Given the description of an element on the screen output the (x, y) to click on. 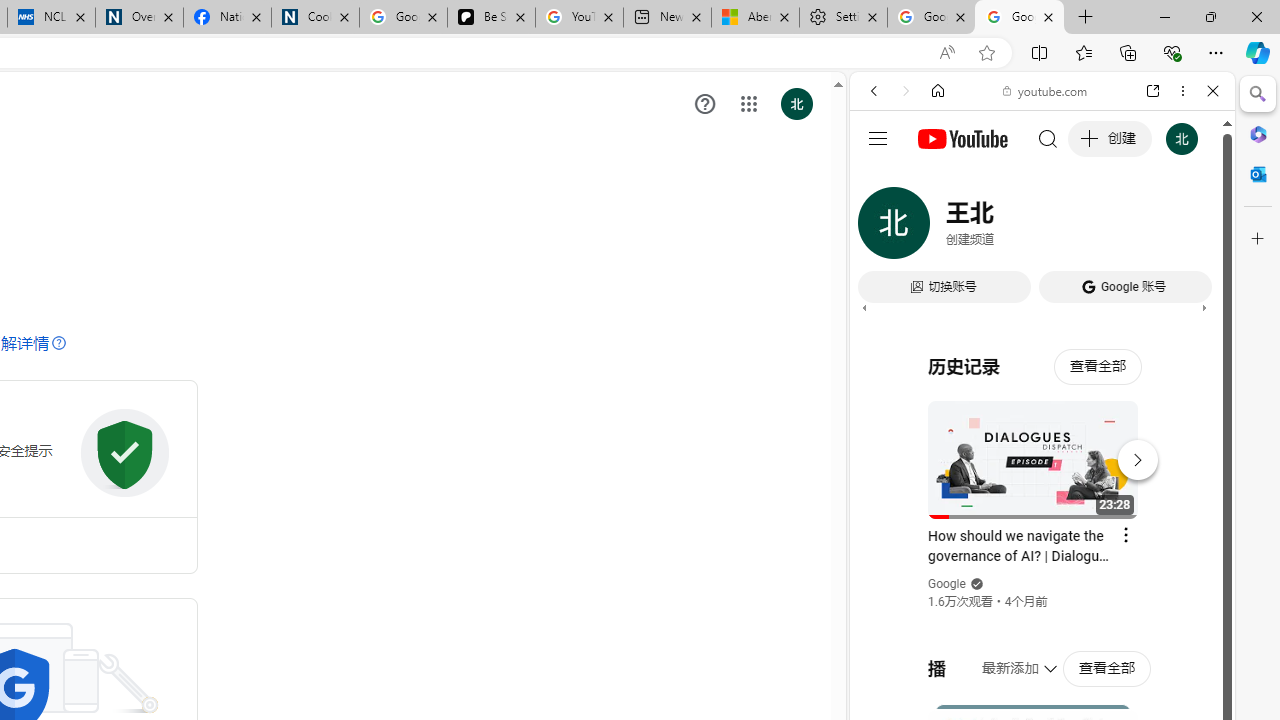
Music (1042, 543)
Trailer #2 [HD] (1042, 592)
YouTube (1034, 296)
